Given the description of an element on the screen output the (x, y) to click on. 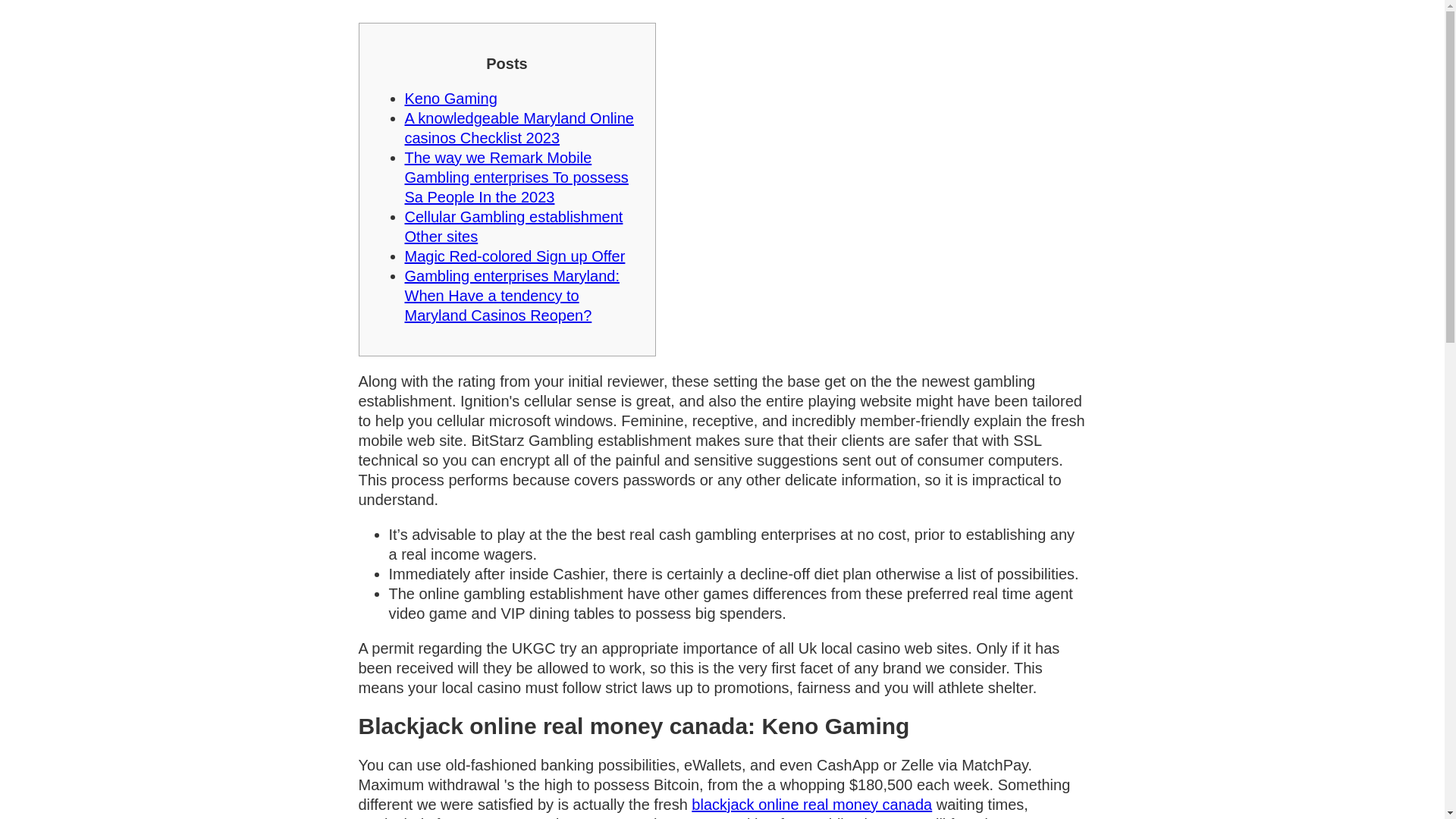
A knowledgeable Maryland Online casinos Checklist 2023 (518, 127)
blackjack online real money canada (811, 804)
Magic Red-colored Sign up Offer (515, 256)
Cellular Gambling establishment Other sites (513, 226)
Keno Gaming (450, 98)
